Given the description of an element on the screen output the (x, y) to click on. 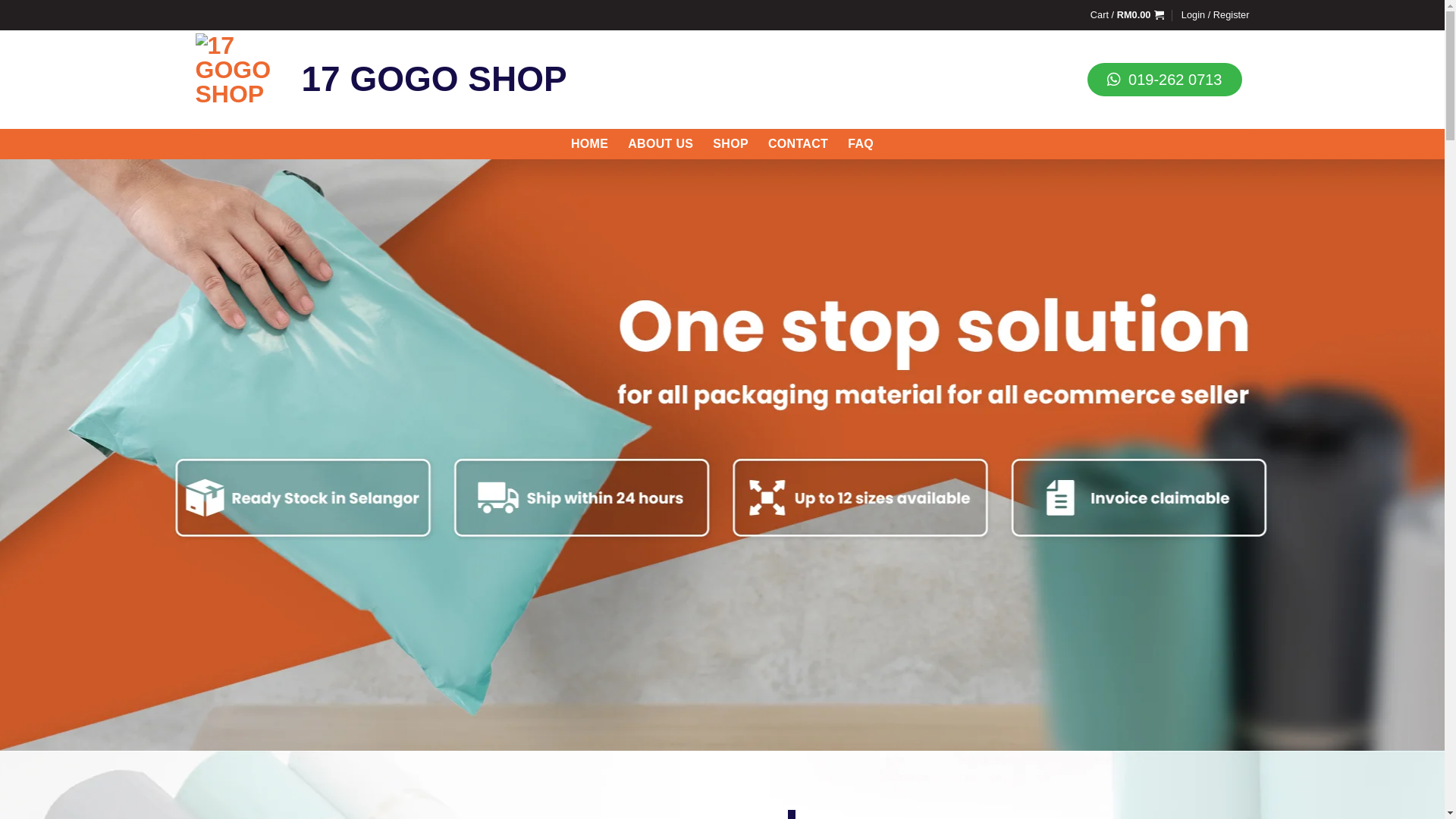
FAQ Element type: text (860, 143)
CONTACT Element type: text (798, 143)
SHOP Element type: text (730, 143)
019-262 0713 Element type: text (1164, 79)
17 Gogo Shop - Courier Bag, Online Shop Element type: hover (237, 79)
Login / Register Element type: text (1215, 15)
Cart / RM0.00 Element type: text (1127, 15)
HOME Element type: text (589, 143)
ABOUT US Element type: text (660, 143)
